Given the description of an element on the screen output the (x, y) to click on. 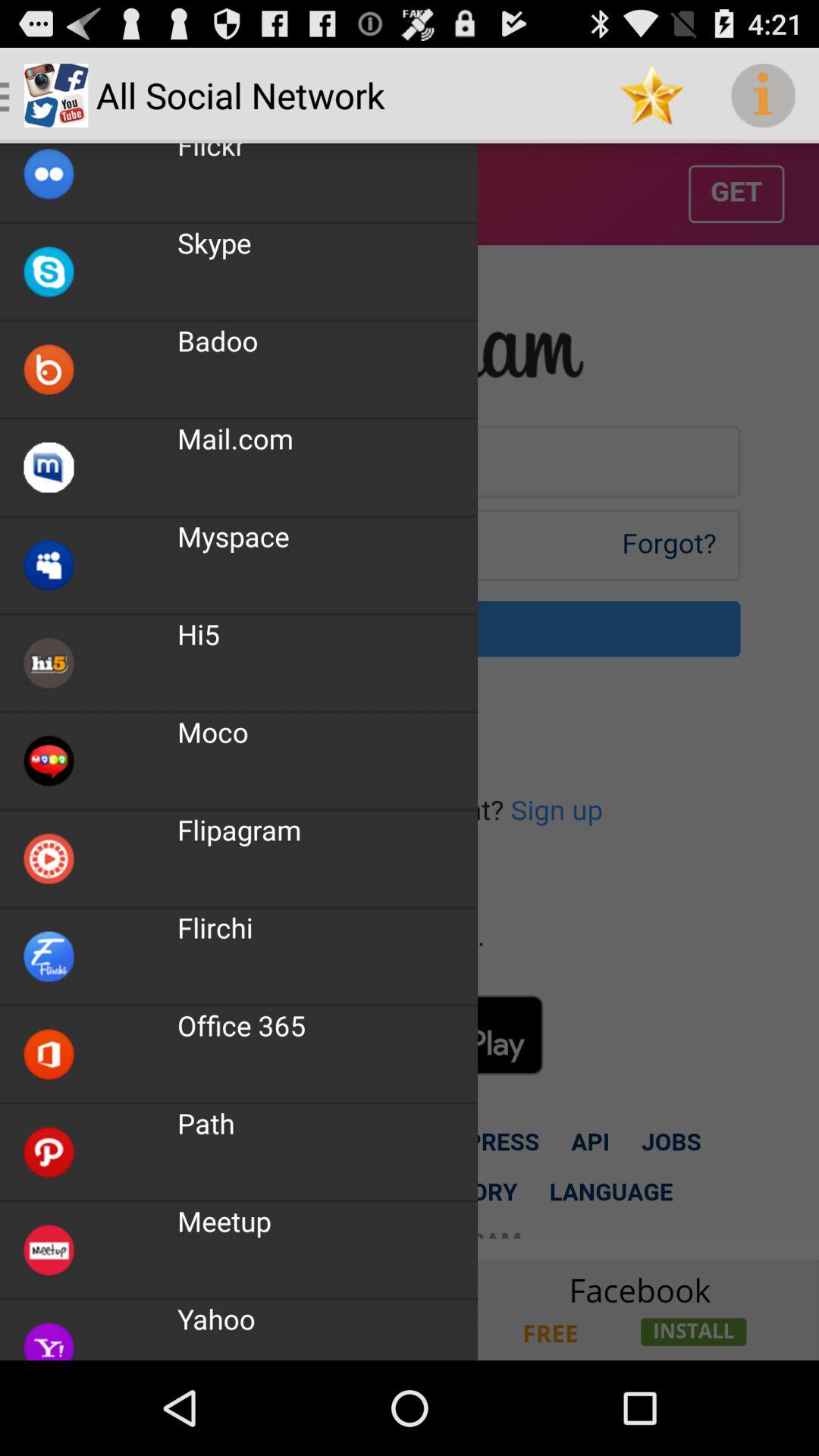
tap the item to the right of the all social network (651, 95)
